Given the description of an element on the screen output the (x, y) to click on. 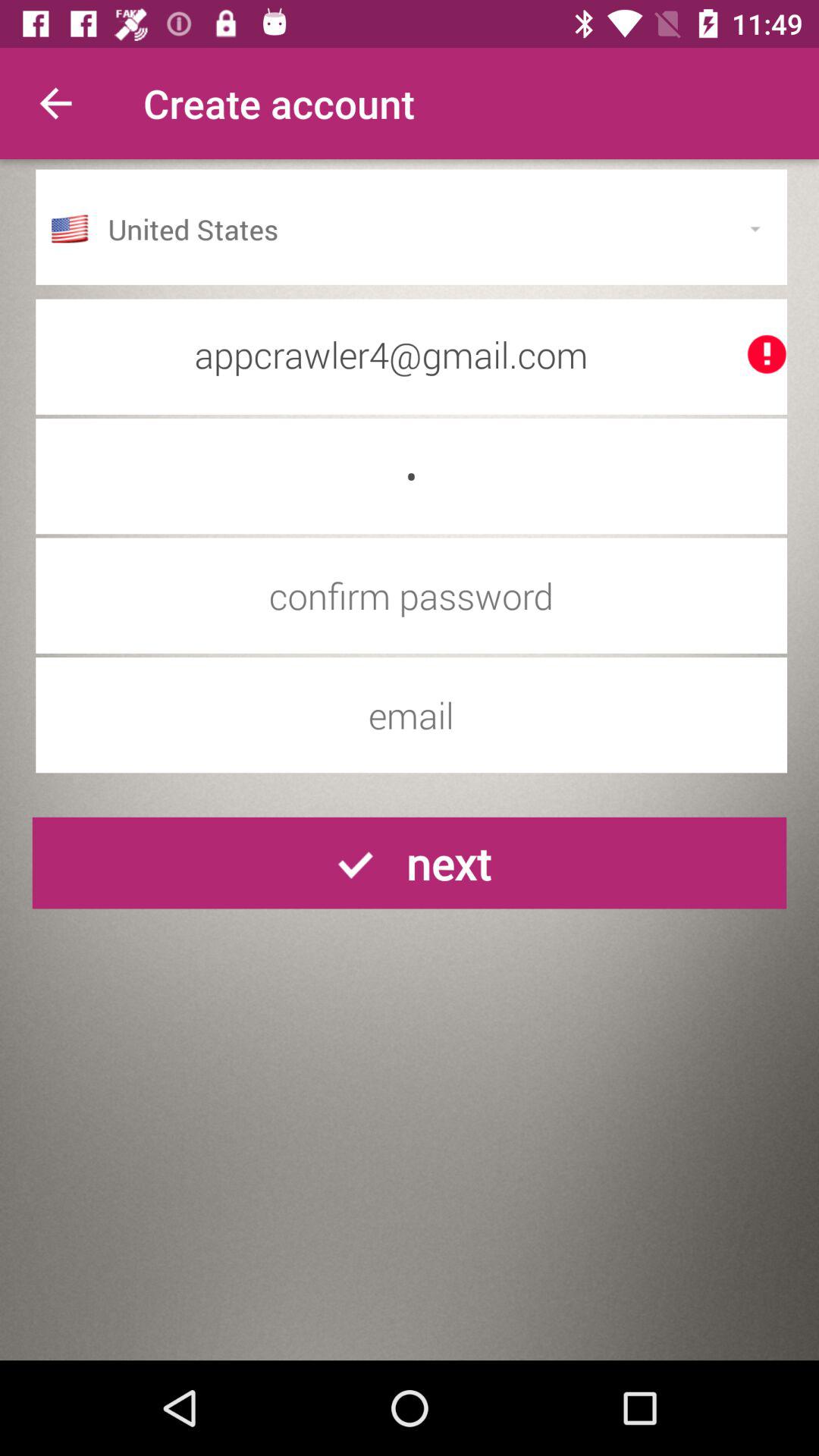
press the item above c icon (411, 354)
